Given the description of an element on the screen output the (x, y) to click on. 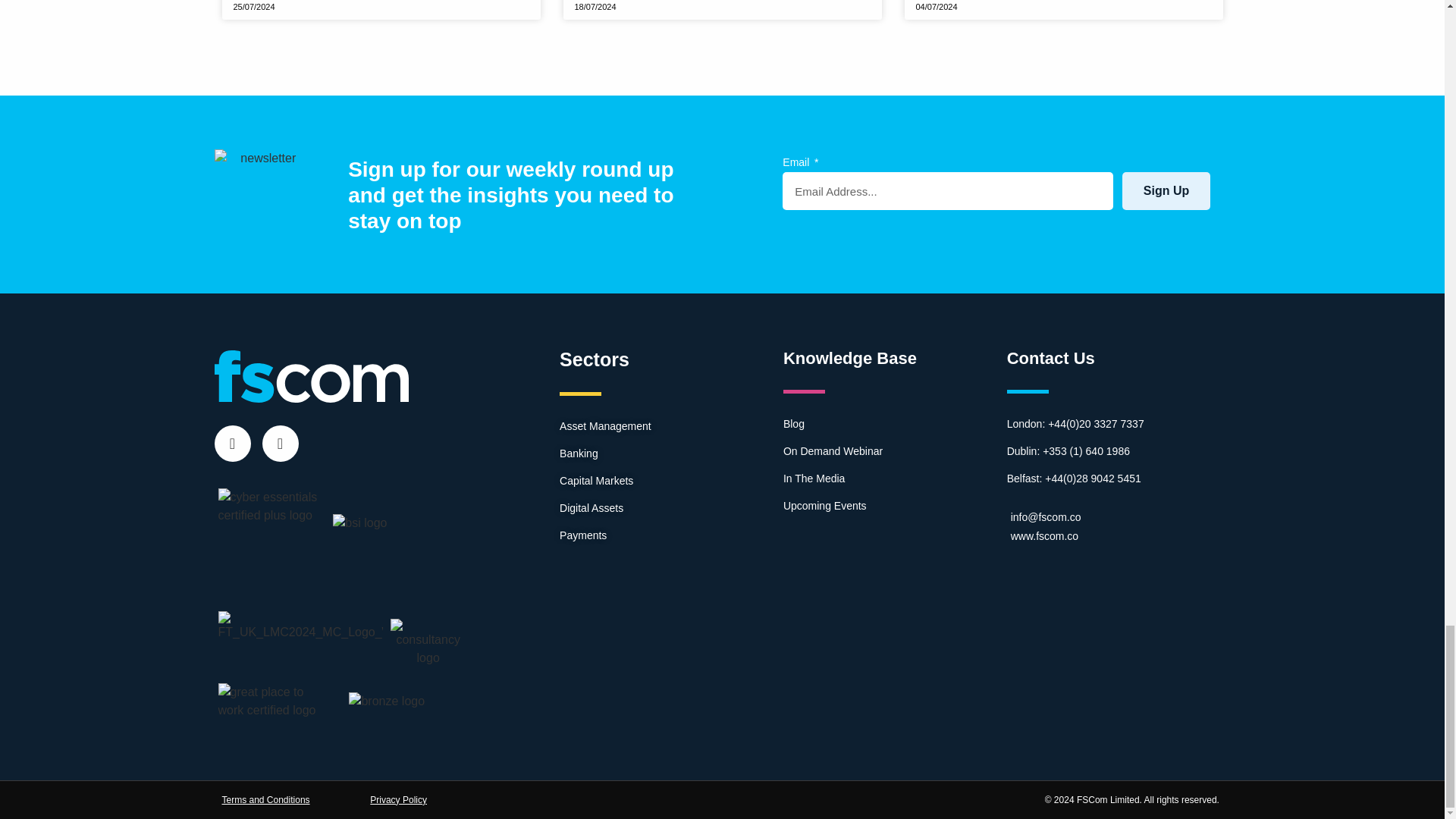
bronze-logo (387, 701)
fscom-good-place-to-work-logo (272, 701)
